Given the description of an element on the screen output the (x, y) to click on. 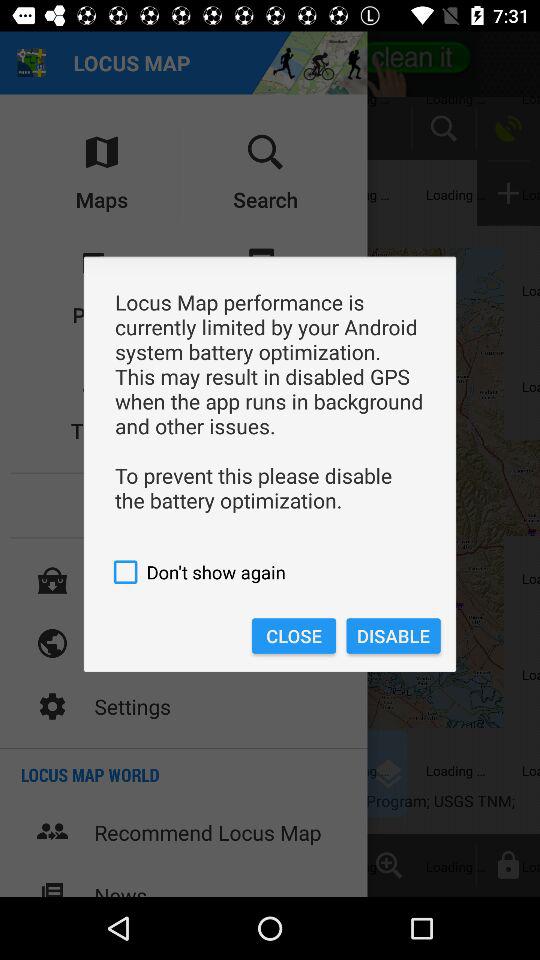
tap the icon above close (269, 572)
